Given the description of an element on the screen output the (x, y) to click on. 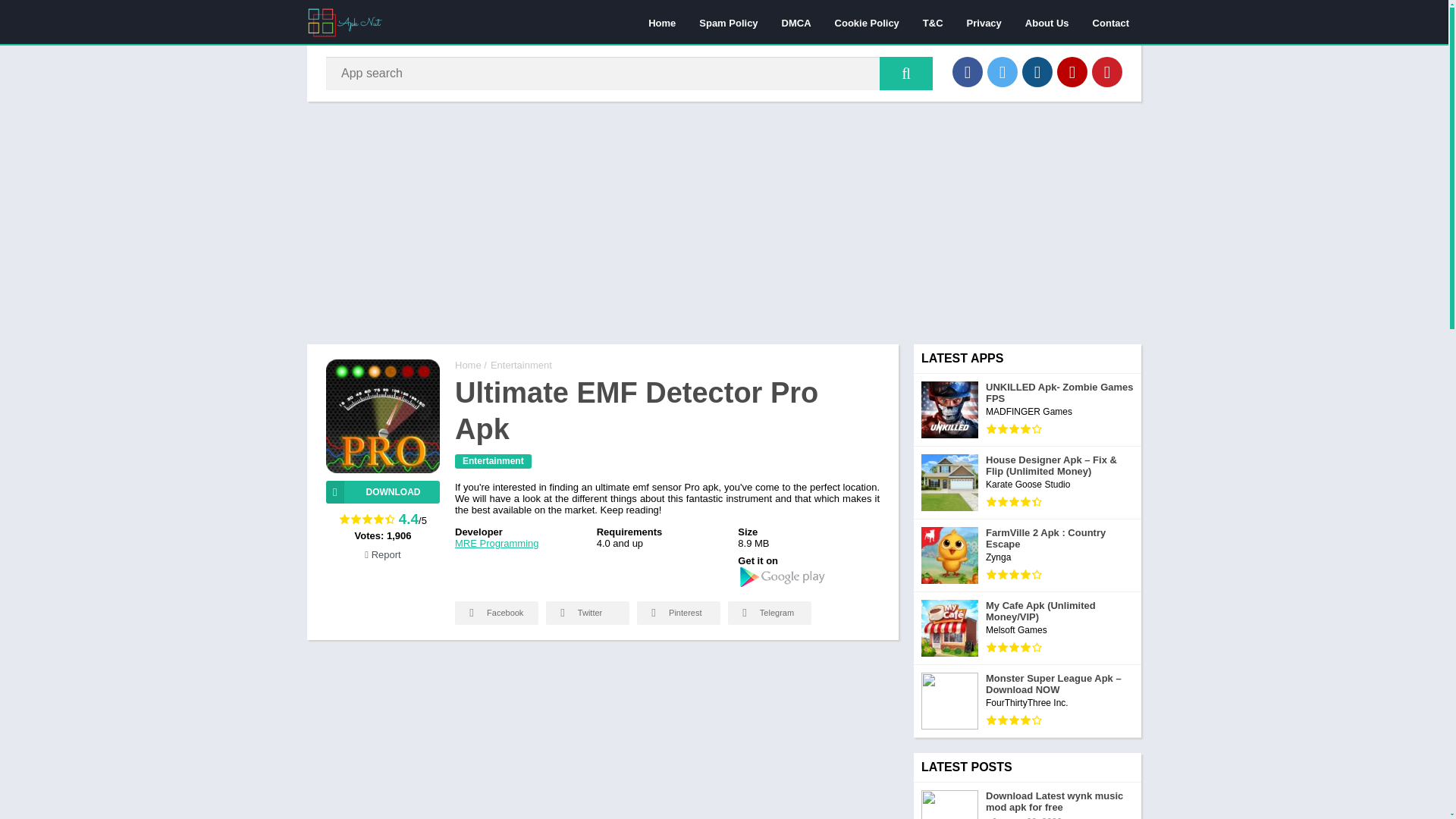
Pinterest (1107, 71)
Apk Nut (467, 365)
Advertisement (602, 737)
Instagram (1037, 71)
Facebook (967, 71)
Download (382, 491)
YouTube (1072, 71)
Twitter (1002, 71)
